Given the description of an element on the screen output the (x, y) to click on. 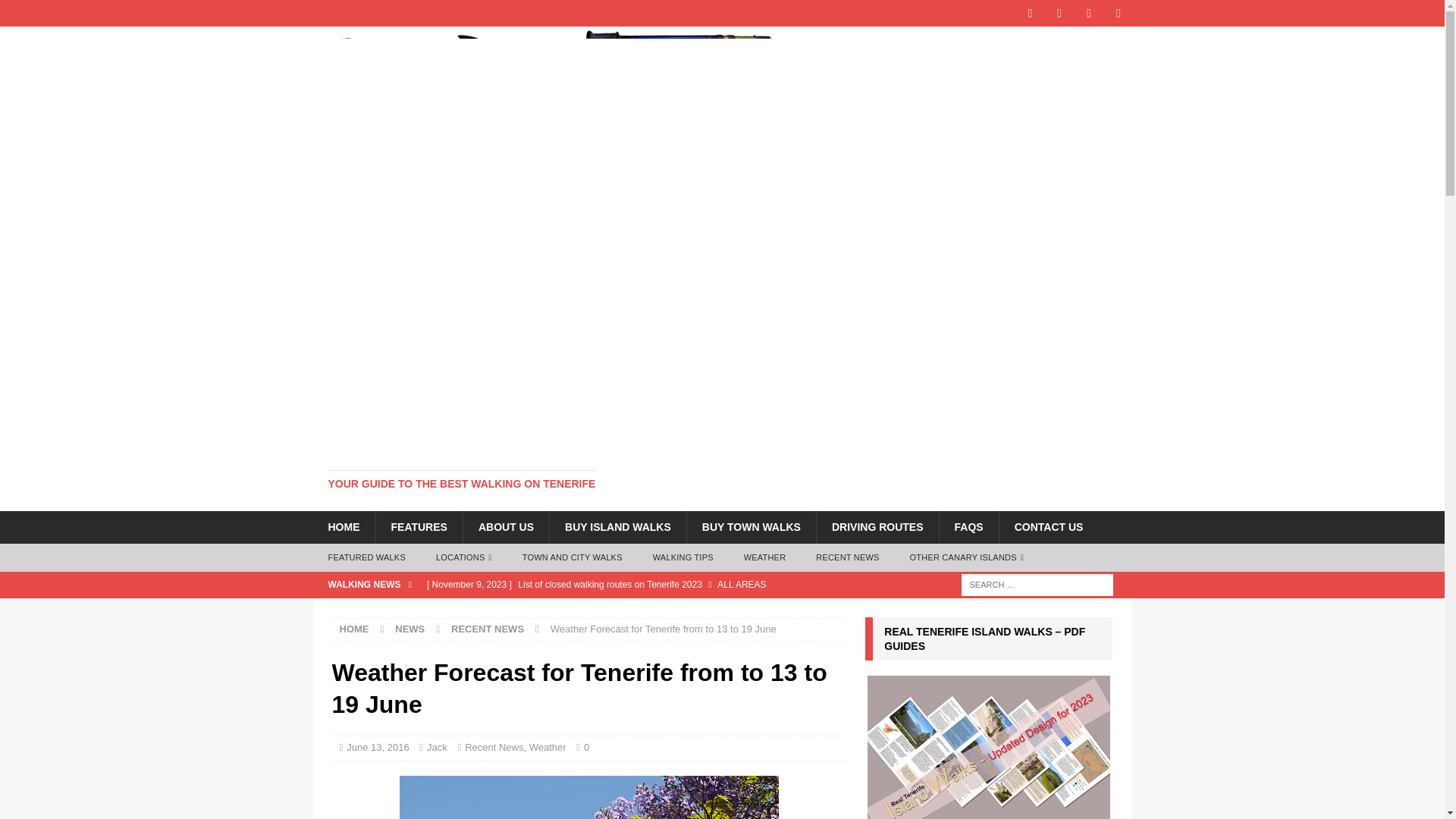
BUY ISLAND WALKS (616, 526)
TOWN AND CITY WALKS (571, 557)
FAQS (968, 526)
WALKING TIPS (683, 557)
FEATURES (417, 526)
NEWS (409, 628)
DRIVING ROUTES (877, 526)
RECENT NEWS (846, 557)
OTHER CANARY ISLANDS (967, 557)
LOCATIONS (463, 557)
